Given the description of an element on the screen output the (x, y) to click on. 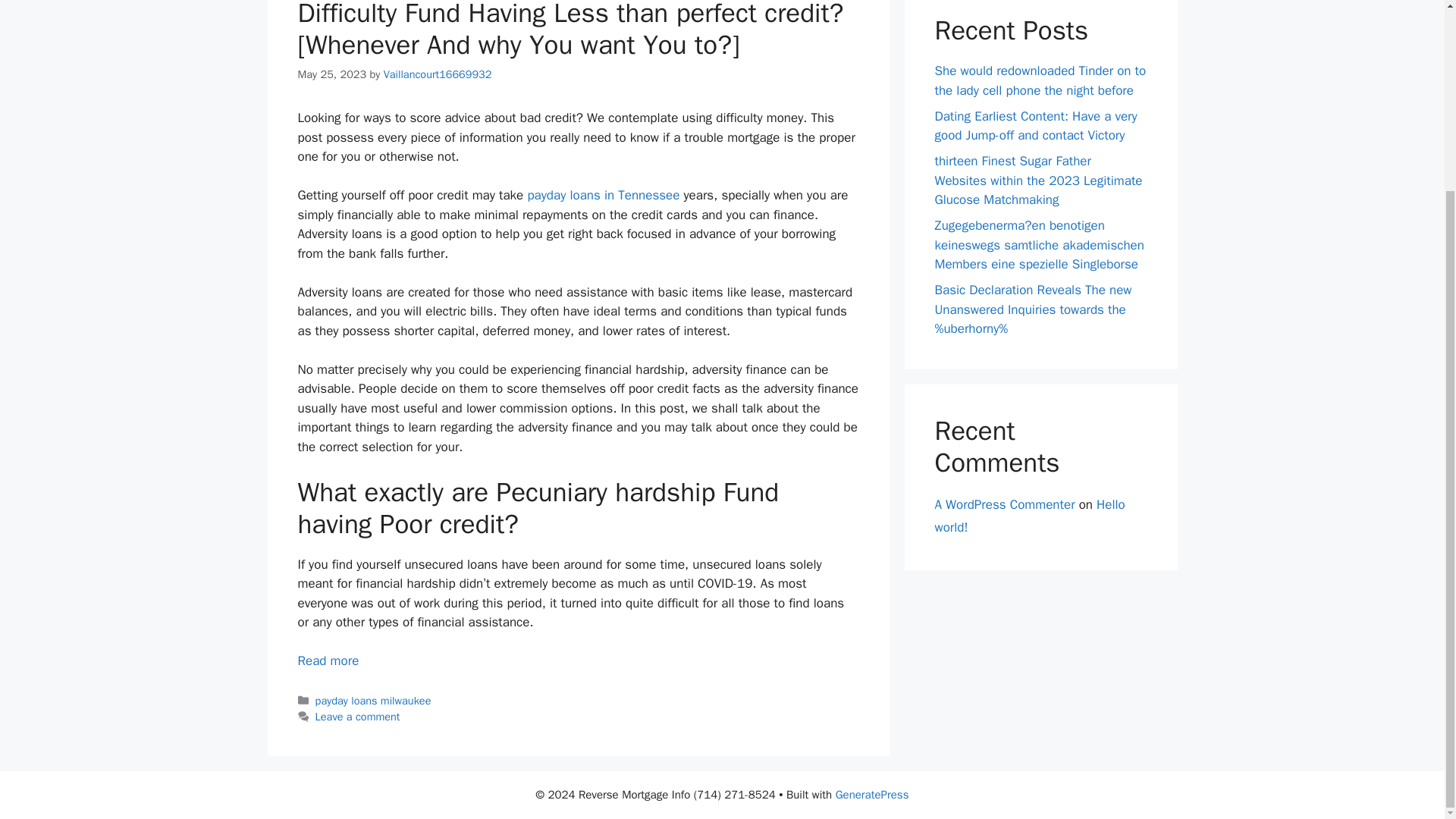
Vaillancourt16669932 (438, 74)
Read more (327, 660)
GeneratePress (871, 794)
payday loans in Tennessee (603, 195)
Hello world! (1029, 515)
Leave a comment (357, 716)
A WordPress Commenter (1004, 503)
